Given the description of an element on the screen output the (x, y) to click on. 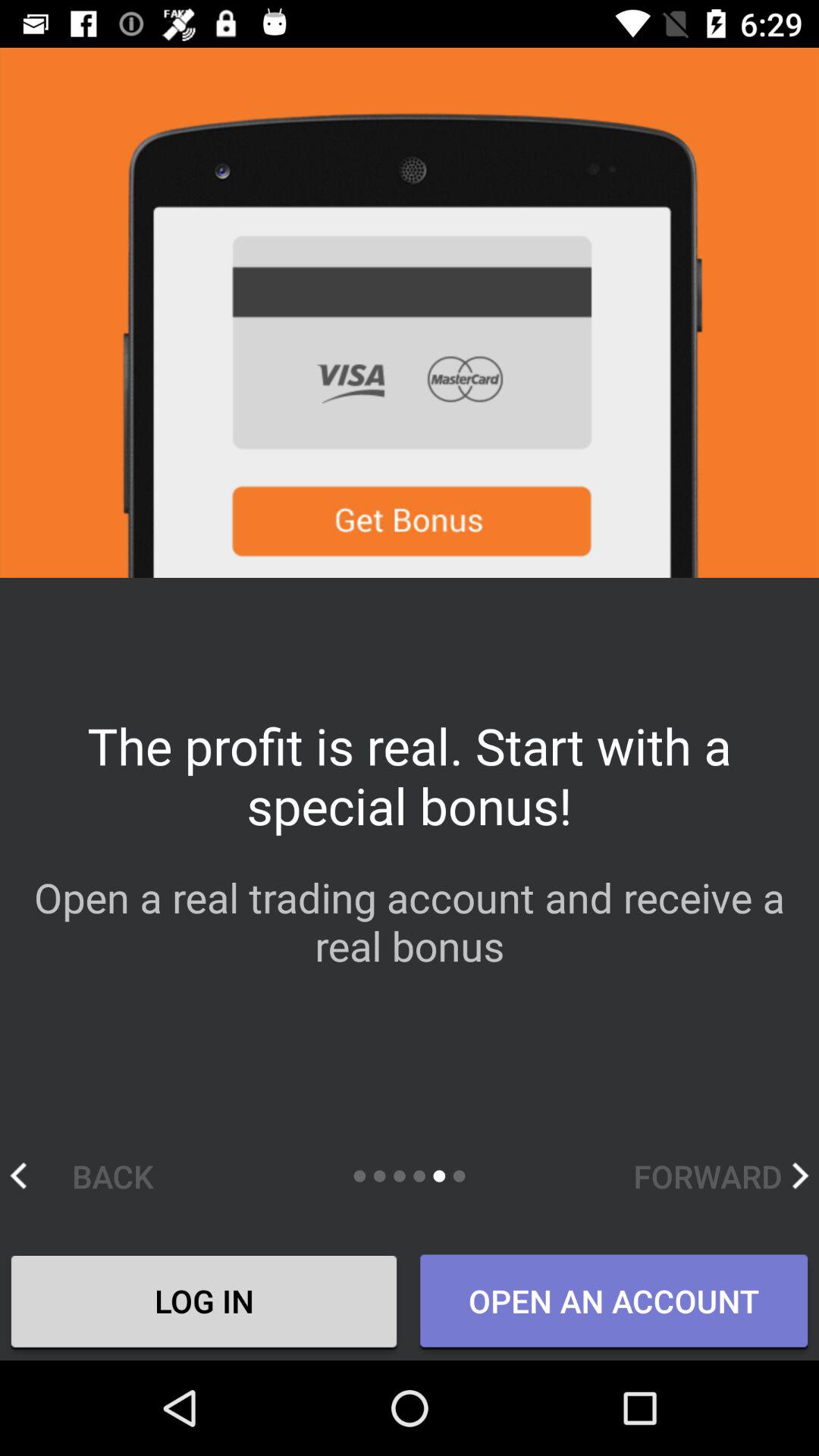
turn on log in item (204, 1303)
